Given the description of an element on the screen output the (x, y) to click on. 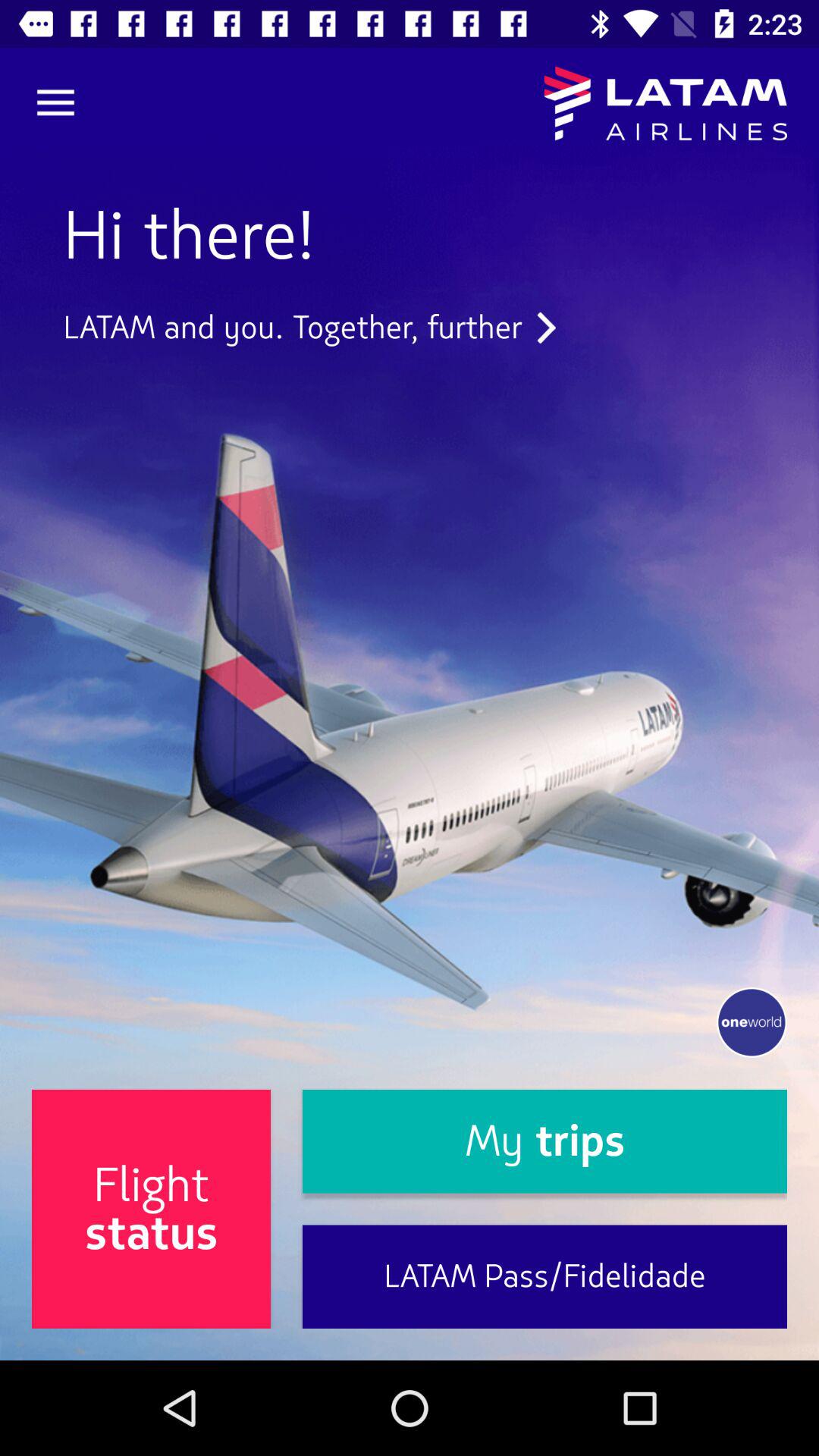
press the item below my trips item (544, 1276)
